Given the description of an element on the screen output the (x, y) to click on. 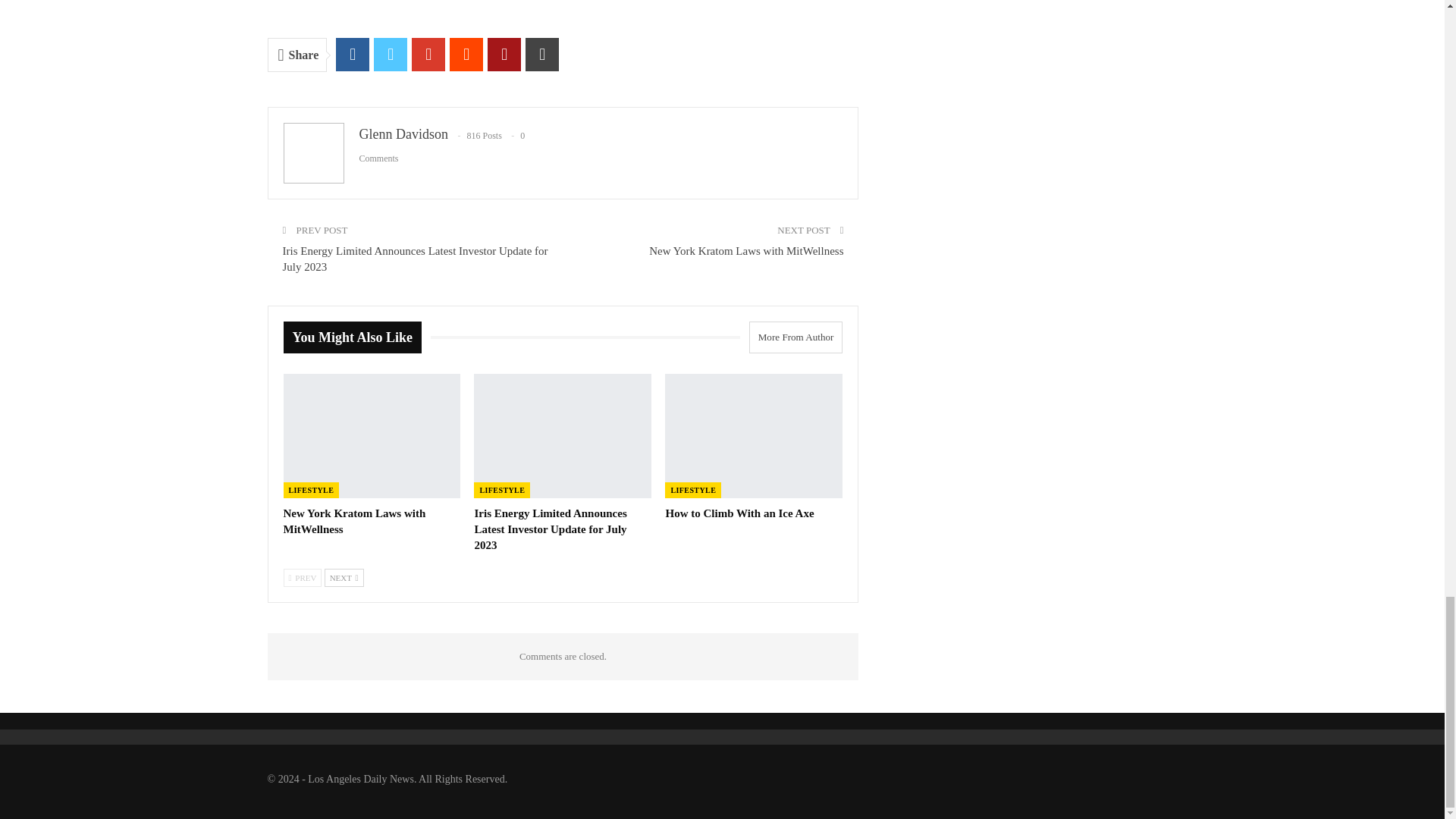
New York Kratom Laws with MitWellness (746, 250)
How to Climb With an Ice Axe (739, 512)
Glenn Davidson (403, 133)
New York Kratom Laws with MitWellness (354, 520)
New York Kratom Laws with MitWellness (372, 435)
How to Climb With an Ice Axe (754, 435)
Previous (302, 577)
Next (344, 577)
